Given the description of an element on the screen output the (x, y) to click on. 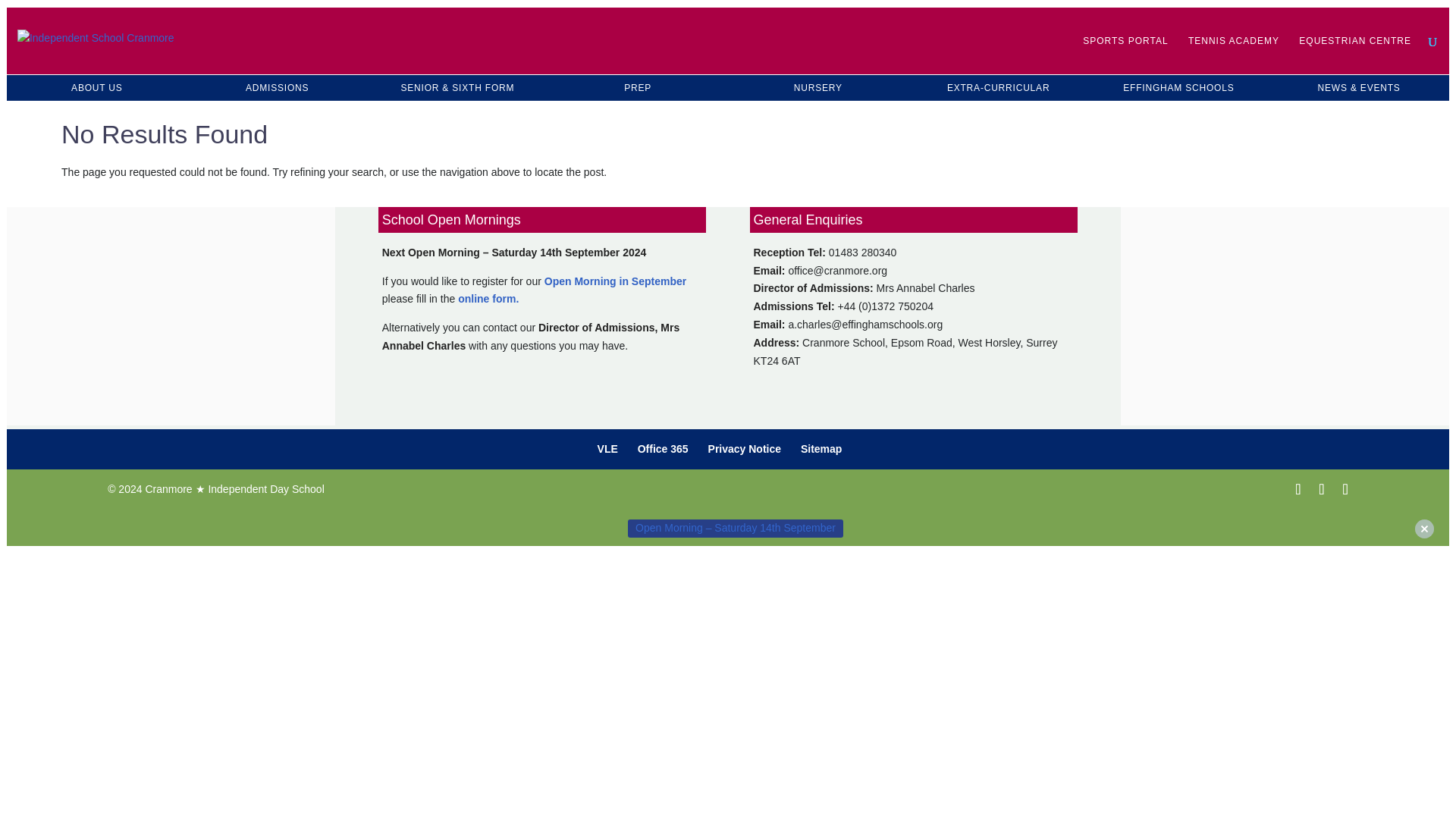
ADMISSIONS (277, 87)
TENNIS ACADEMY (1233, 55)
EQUESTRIAN CENTRE (1354, 55)
SPORTS PORTAL (1125, 55)
ABOUT US (97, 87)
